Given the description of an element on the screen output the (x, y) to click on. 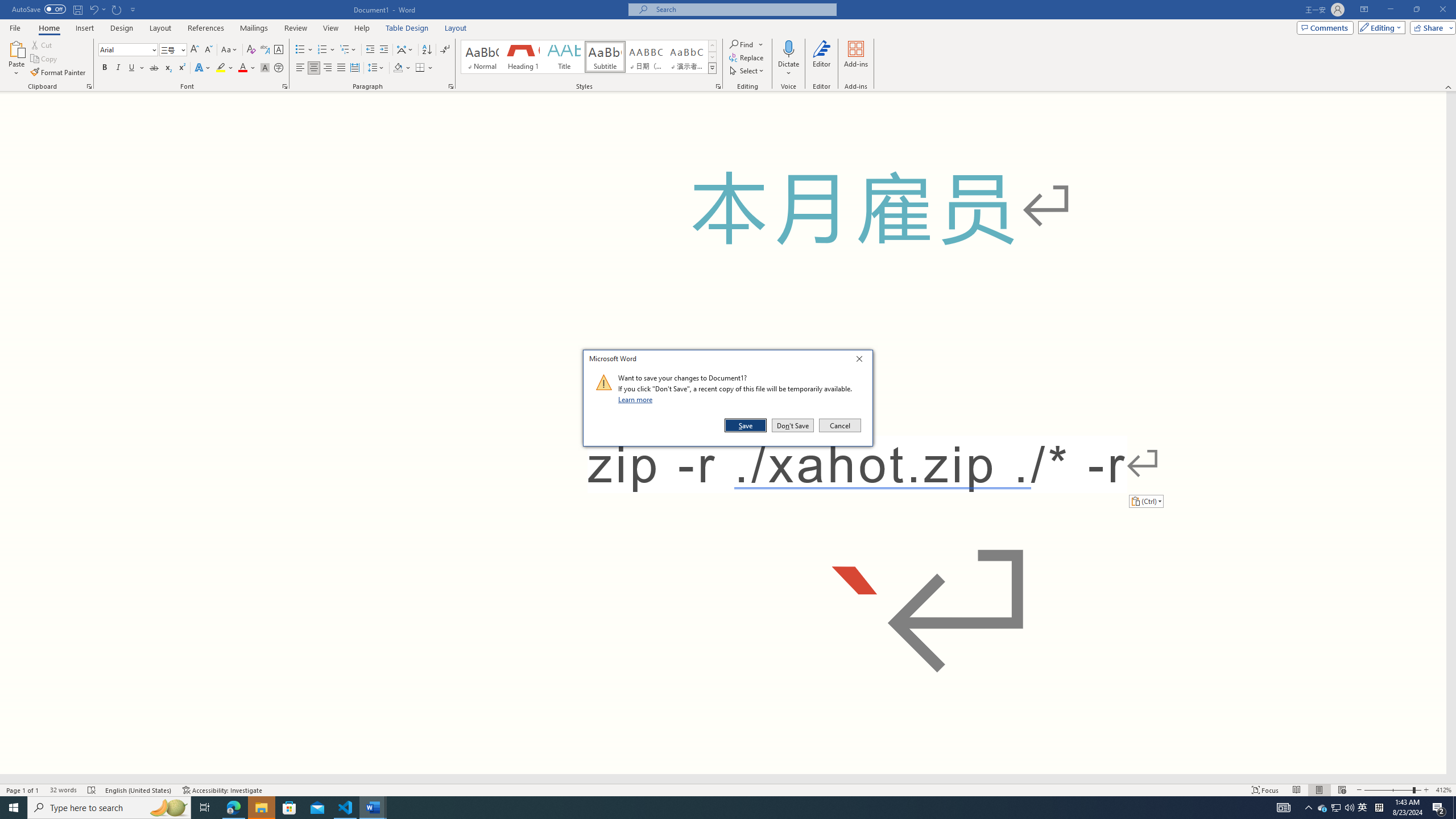
Title (564, 56)
Undo Paste (92, 9)
